Given the description of an element on the screen output the (x, y) to click on. 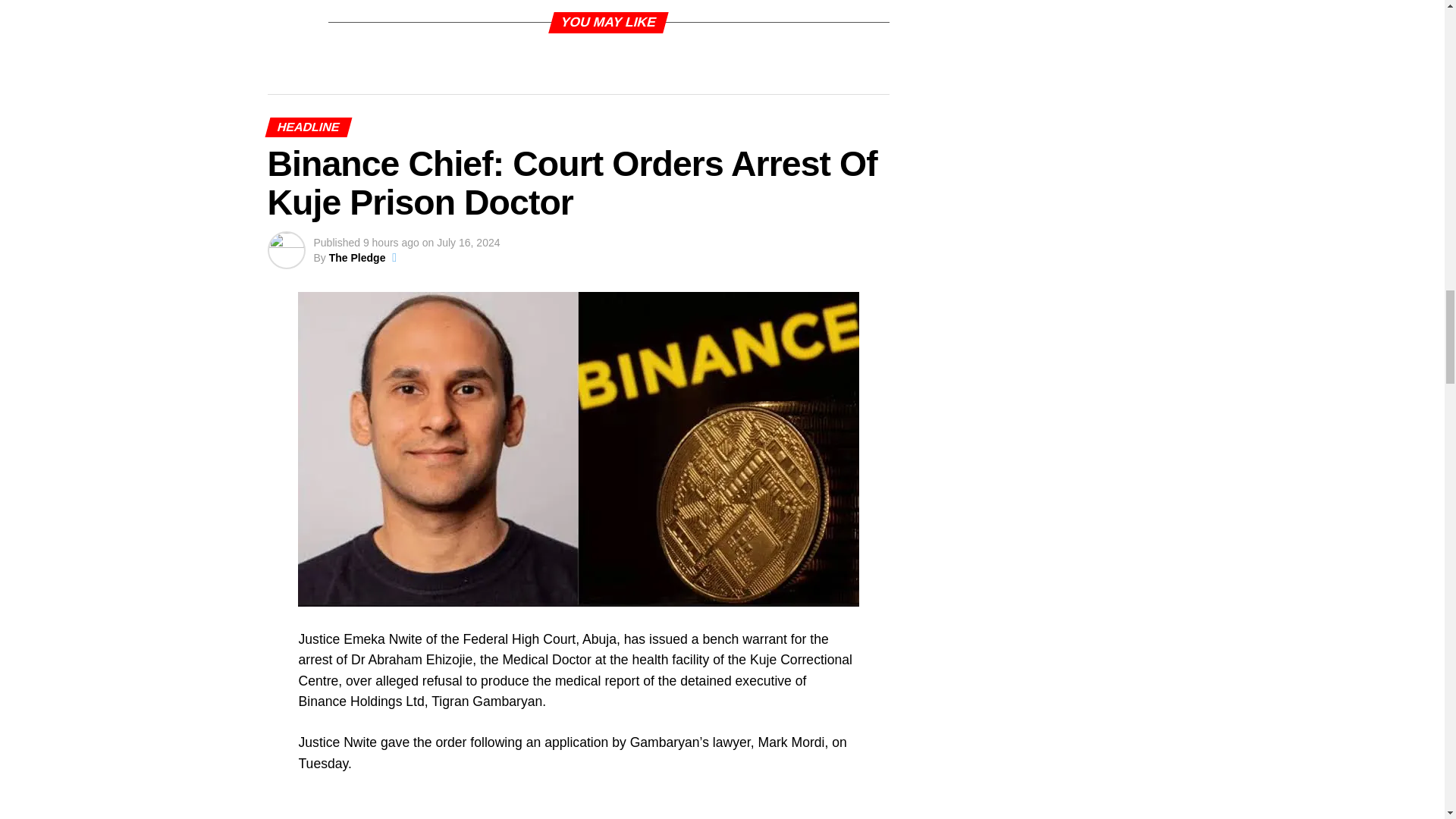
Posts by The Pledge (357, 257)
